Given the description of an element on the screen output the (x, y) to click on. 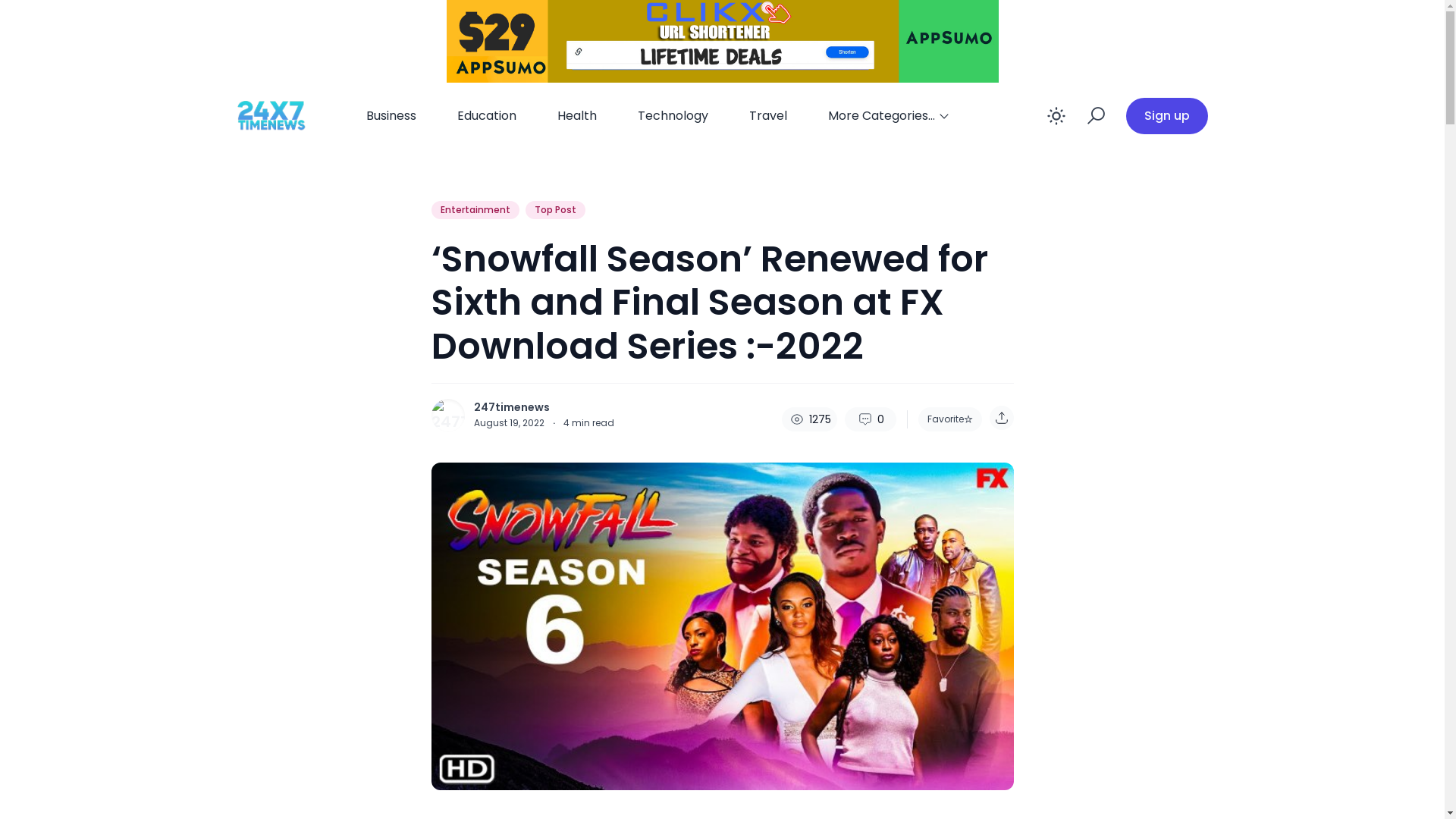
Entertainment Element type: text (474, 209)
Travel Element type: text (768, 115)
Health Element type: text (576, 115)
Favorite Element type: text (949, 419)
Share with Element type: hover (1000, 417)
Education Element type: text (485, 115)
Top Post Element type: text (554, 209)
0 Element type: text (870, 419)
Sign up Element type: text (1166, 115)
Technology Element type: text (671, 115)
Business Element type: text (390, 115)
Enable dark mode Element type: text (1055, 115)
247timenews Element type: text (511, 406)
